Given the description of an element on the screen output the (x, y) to click on. 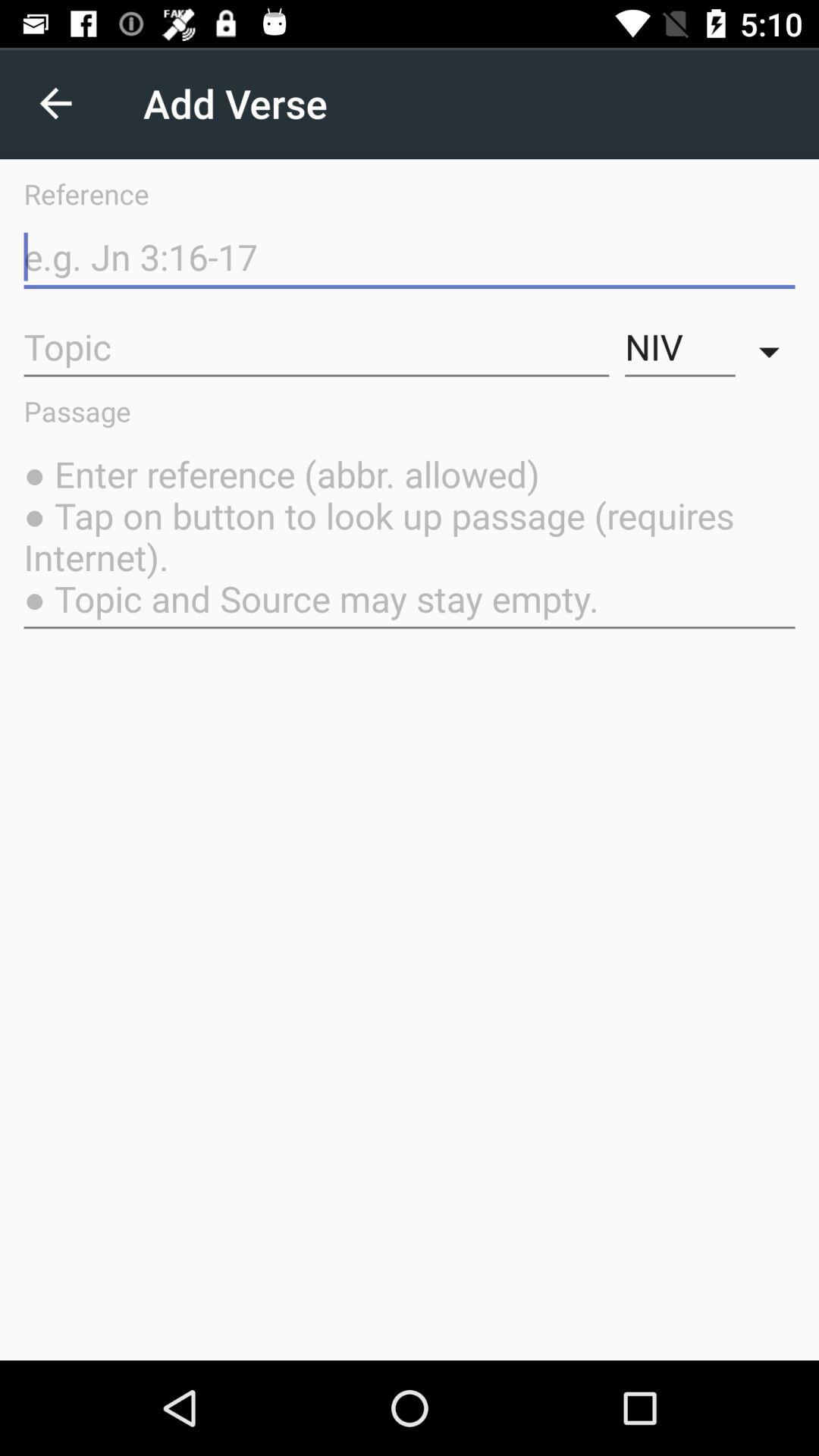
choose the niv icon (680, 347)
